Given the description of an element on the screen output the (x, y) to click on. 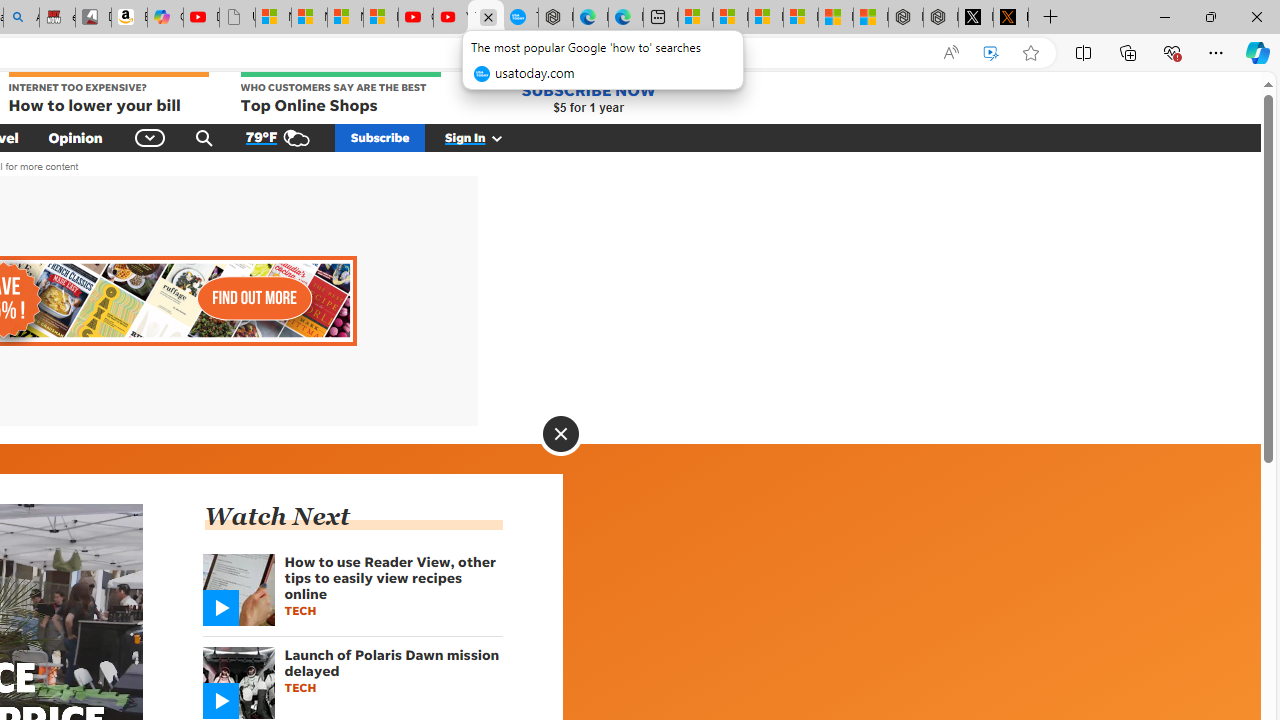
WHO CUSTOMERS SAY ARE THE BEST Top Online Shops (340, 94)
Untitled (237, 17)
Day 1: Arriving in Yemen (surreal to be here) - YouTube (201, 17)
Class: gnt_n_us_a_svg (493, 137)
Nordace (@NordaceOfficial) / X (975, 17)
Global Navigation (150, 137)
Opinion (75, 137)
